Given the description of an element on the screen output the (x, y) to click on. 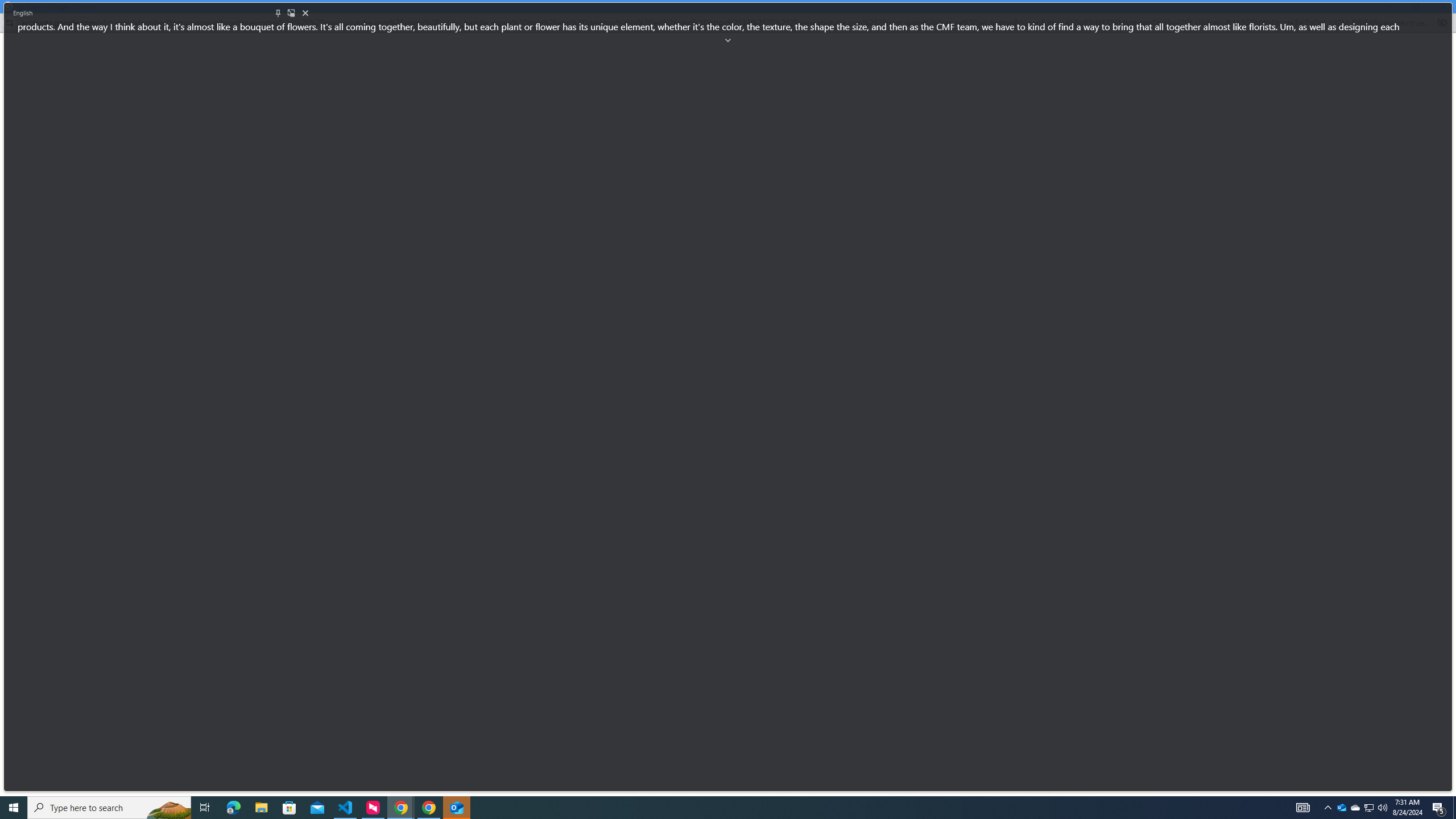
Show more lines (727, 40)
Back to tab (291, 12)
Turn off Live Caption for now (304, 12)
Pin (277, 12)
